Given the description of an element on the screen output the (x, y) to click on. 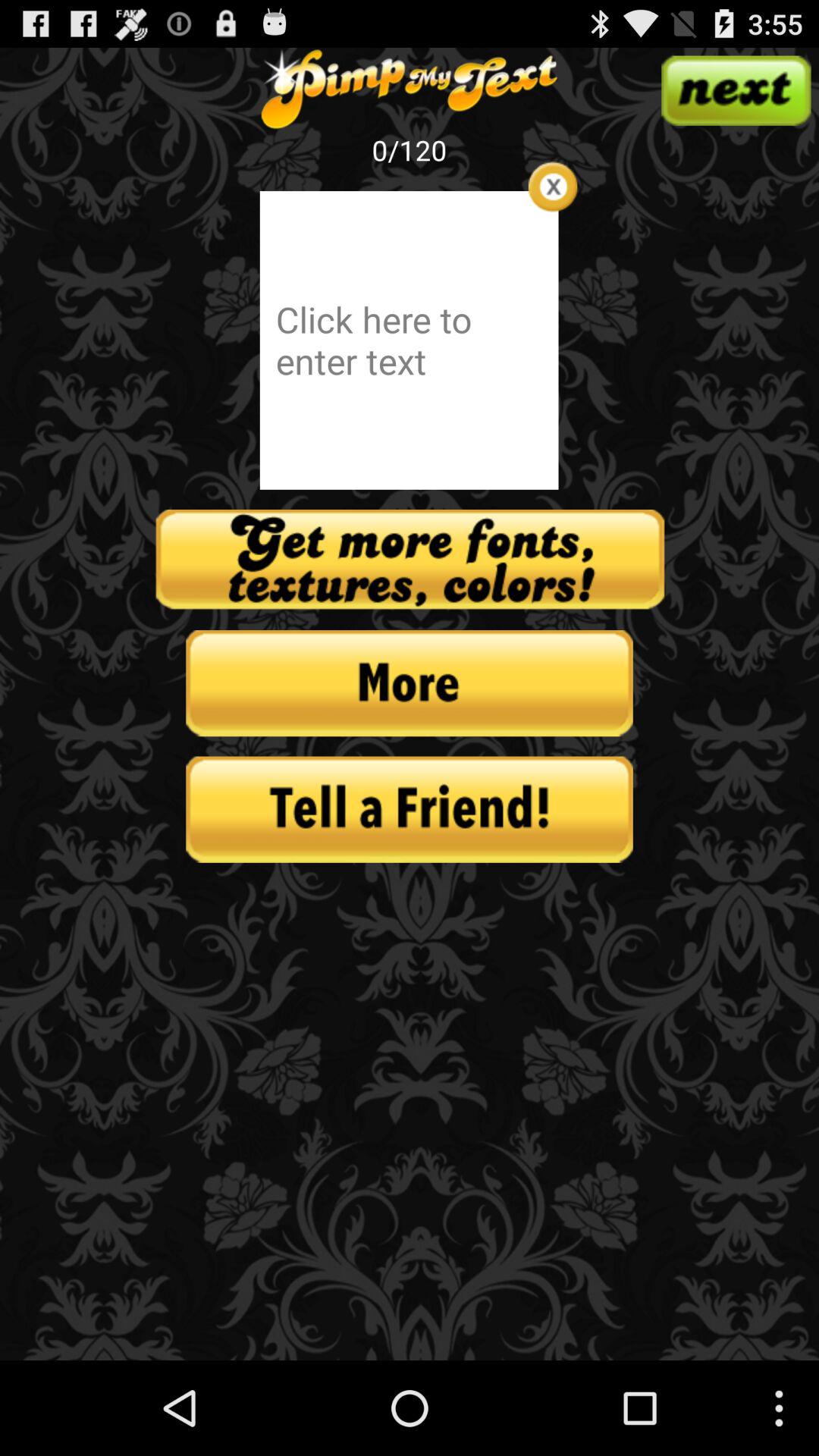
go gto friend (409, 809)
